Given the description of an element on the screen output the (x, y) to click on. 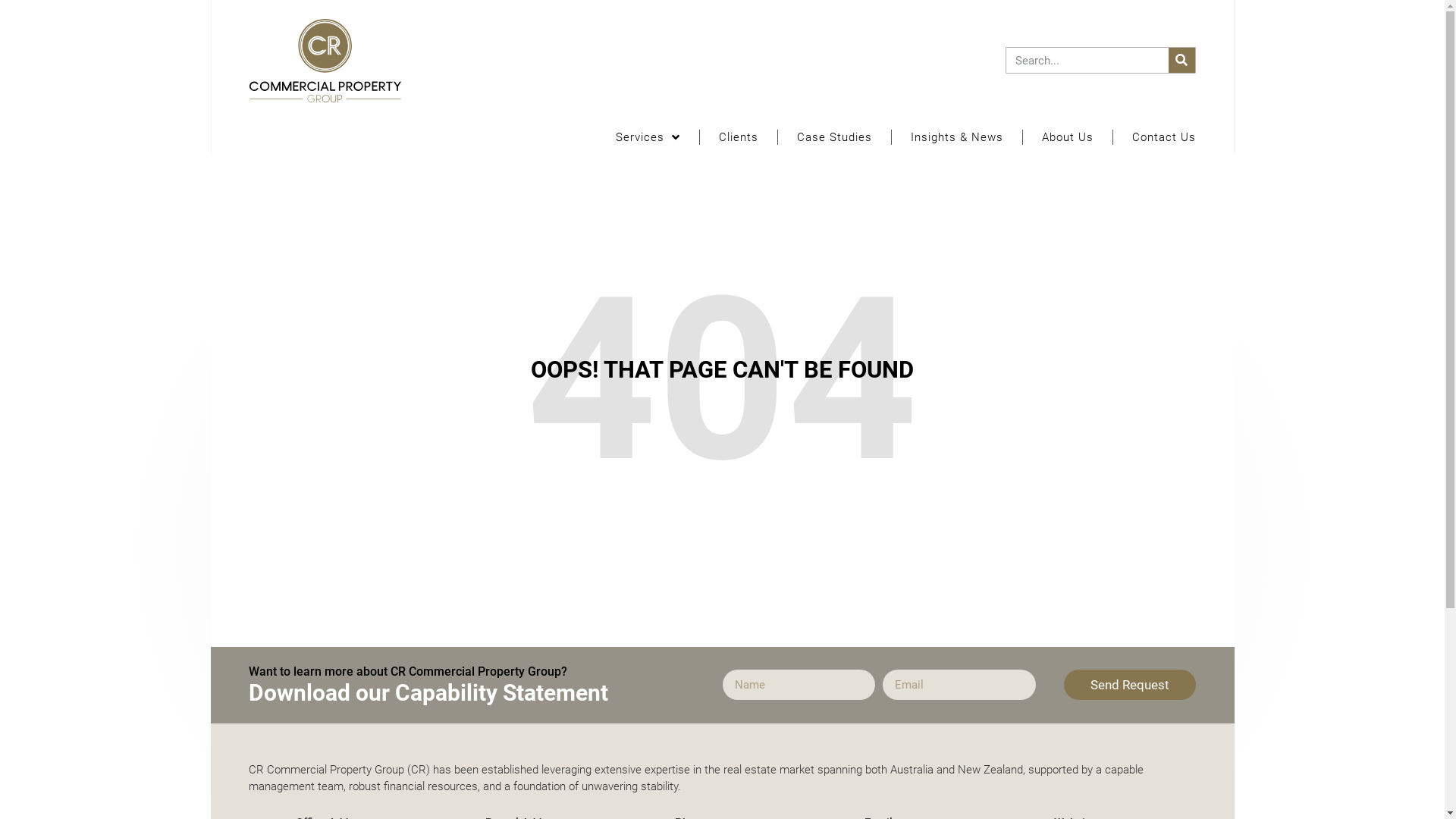
Contact Us Element type: text (1163, 137)
Case Studies Element type: text (834, 137)
About Us Element type: text (1066, 137)
Clients Element type: text (737, 137)
Insights & News Element type: text (956, 137)
Send Request Element type: text (1129, 684)
Services Element type: text (647, 137)
